Given the description of an element on the screen output the (x, y) to click on. 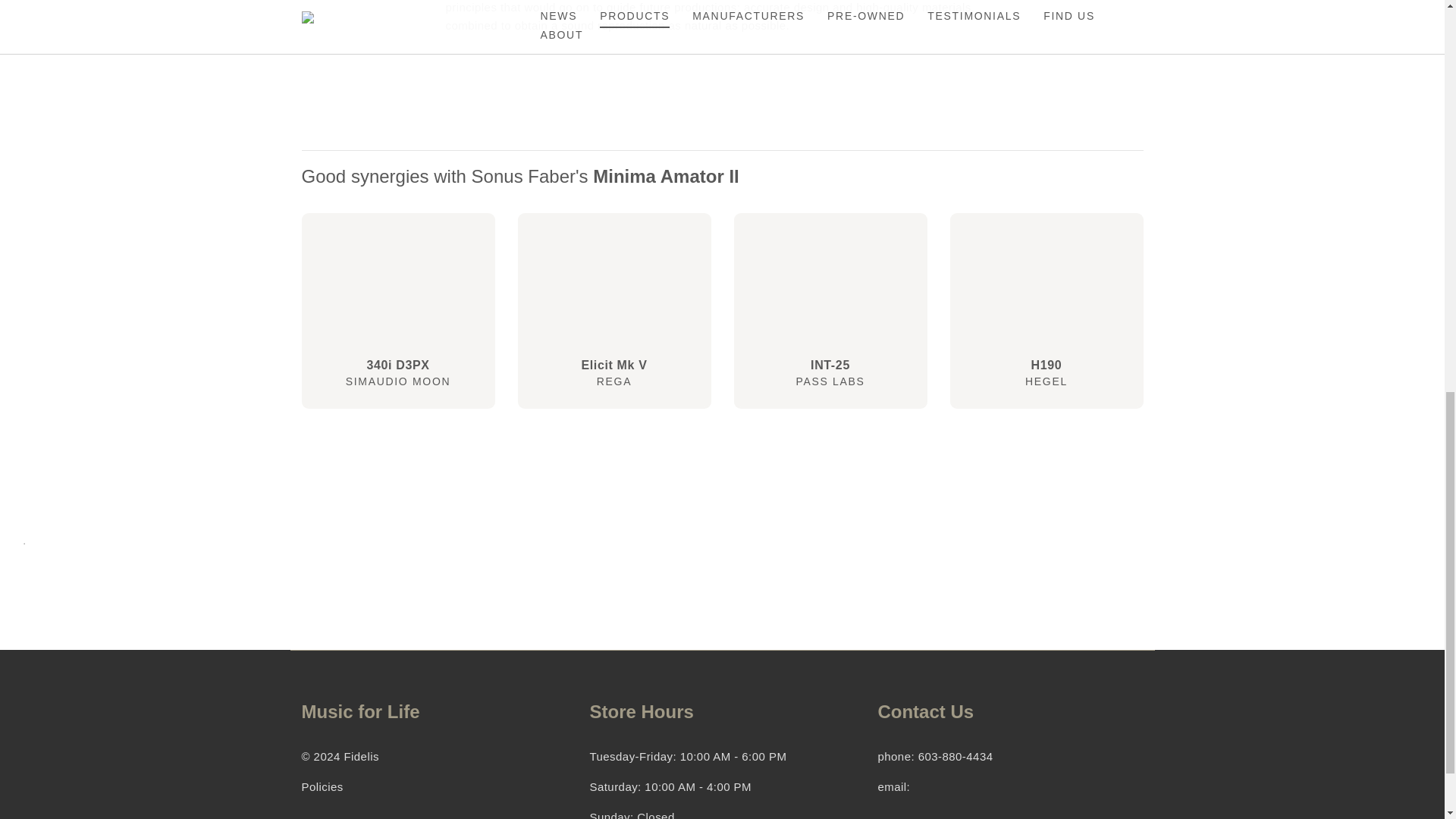
Policies (830, 310)
. (613, 310)
